Given the description of an element on the screen output the (x, y) to click on. 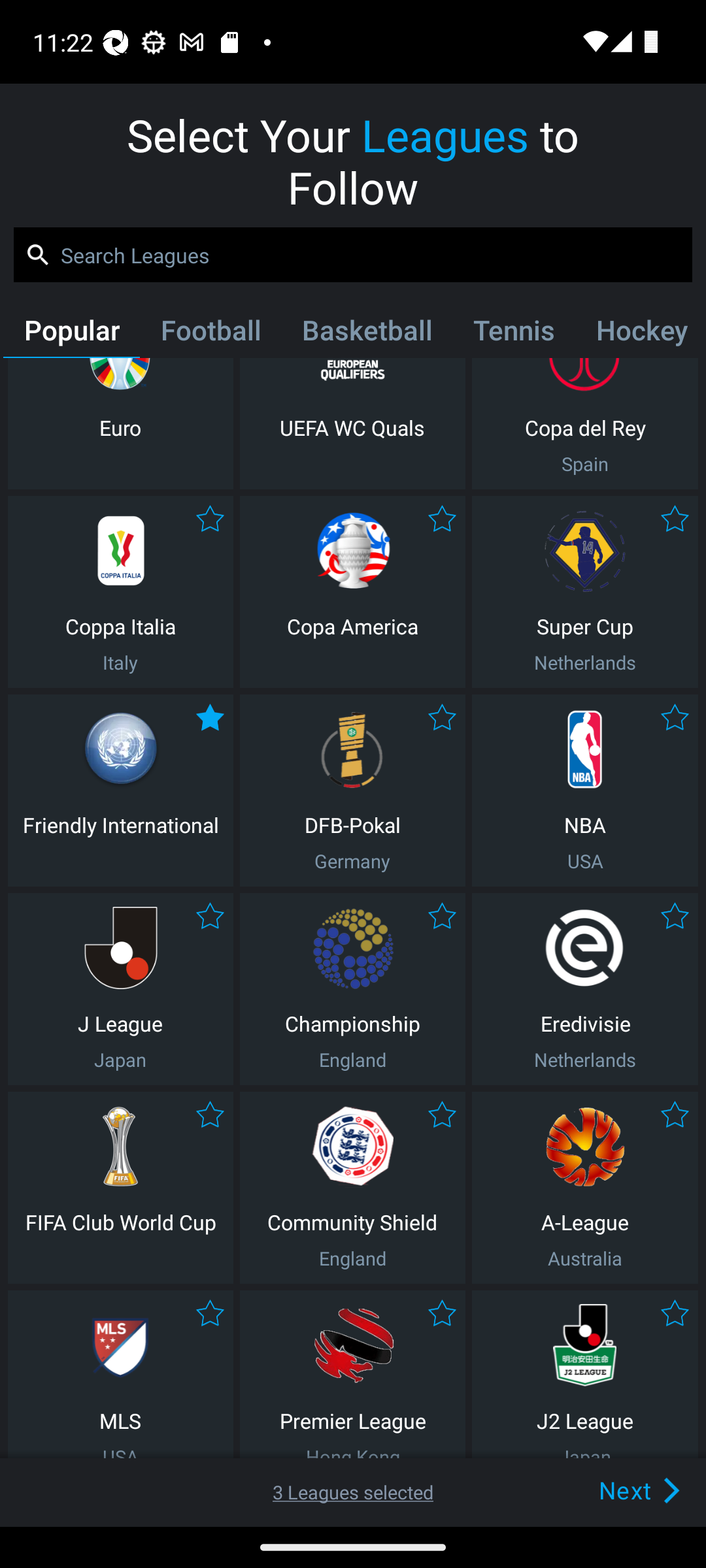
Search Leagues (352, 254)
Popular (71, 333)
Football (209, 333)
Basketball (366, 333)
Tennis (513, 333)
Hockey (638, 333)
Euro (120, 423)
UEFA WC Quals (352, 423)
Copa del Rey Spain (585, 423)
Coppa Italia Italy (120, 591)
Copa America (352, 591)
Super Cup Netherlands (585, 591)
Friendly International (120, 789)
DFB-Pokal Germany (352, 789)
NBA USA (585, 789)
J League Japan (120, 989)
Championship England (352, 989)
Eredivisie Netherlands (585, 989)
FIFA Club World Cup (120, 1187)
Community Shield England (352, 1187)
A-League Australia (585, 1187)
MLS USA (120, 1374)
Premier League Hong Kong (352, 1374)
J2 League Japan (585, 1374)
Next (609, 1489)
3 Leagues selected (352, 1491)
